Given the description of an element on the screen output the (x, y) to click on. 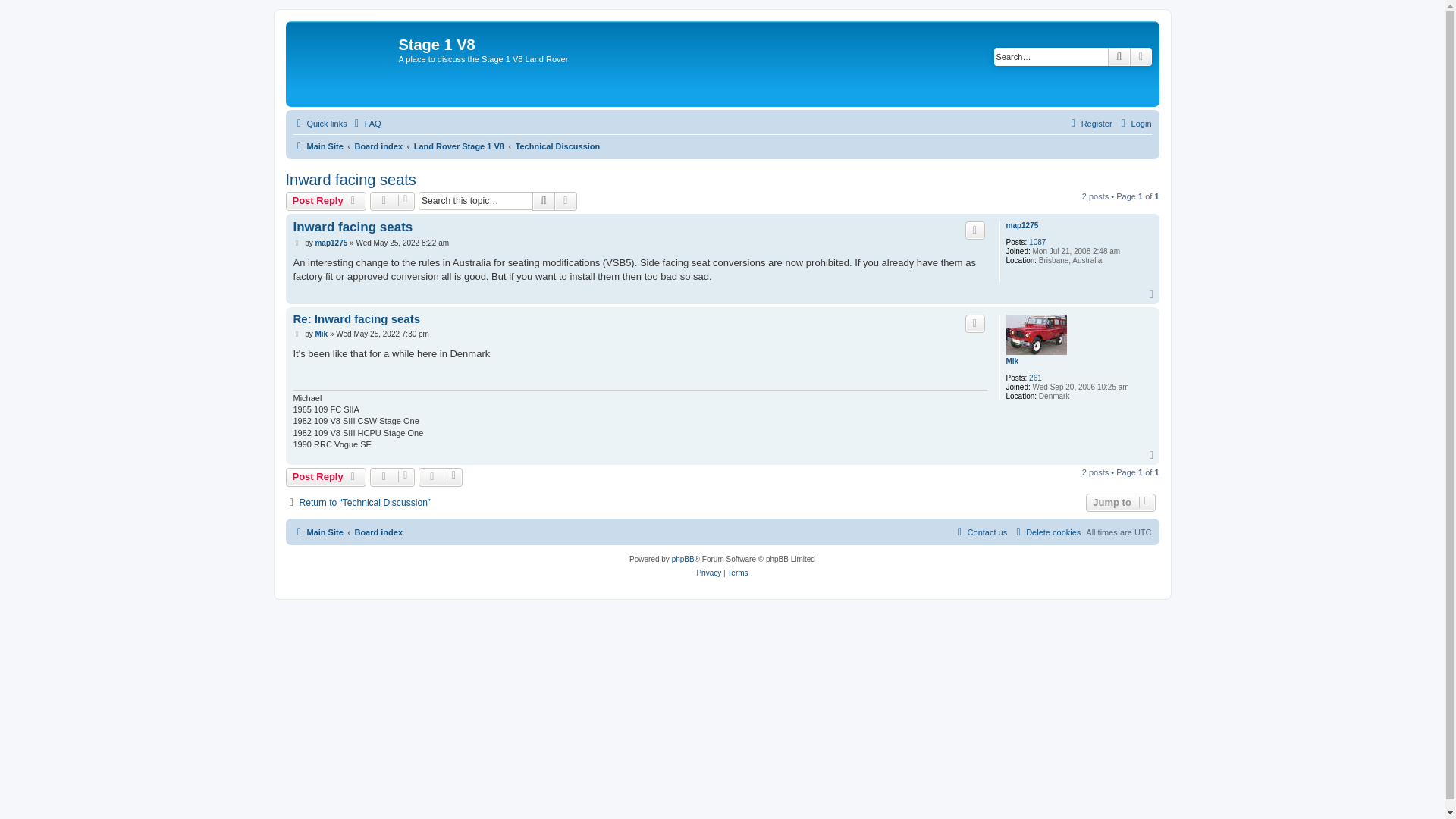
Technical Discussion (557, 146)
Board index (378, 146)
Reply with quote (975, 323)
Topic tools (391, 200)
Main Site (317, 146)
Search (1119, 56)
Quote (975, 230)
Advanced search (1141, 56)
Advanced search (565, 200)
Inward facing seats (352, 227)
Re: Inward facing seats (356, 319)
Quick links (319, 123)
Inward facing seats (349, 180)
Board index (378, 146)
Register (1089, 123)
